Given the description of an element on the screen output the (x, y) to click on. 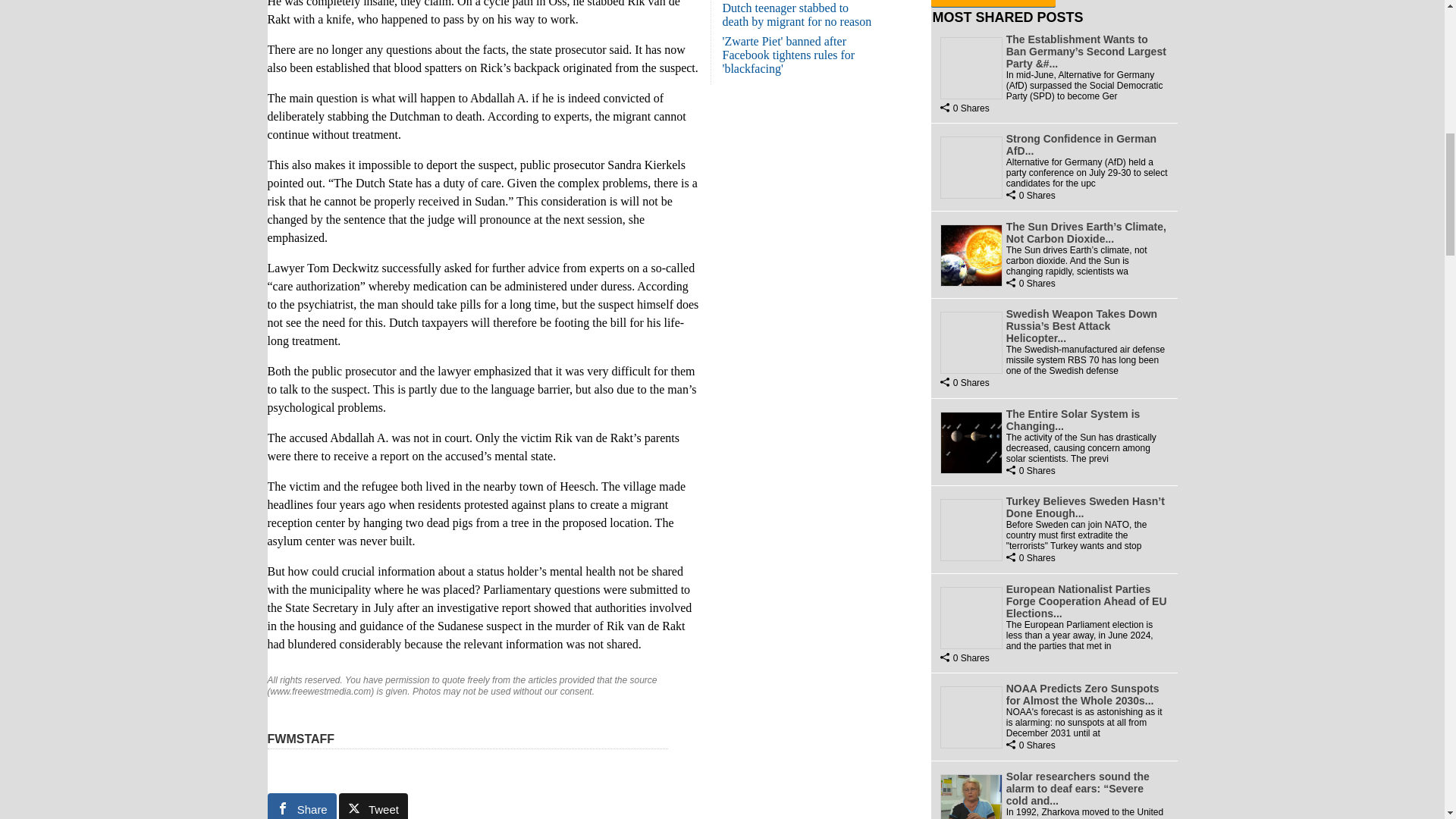
FWMSTAFF (300, 738)
Posts by fwmstaff (300, 738)
Share (301, 806)
Dutch teenager stabbed to death by migrant for no reason (796, 14)
Tweet (373, 806)
